Given the description of an element on the screen output the (x, y) to click on. 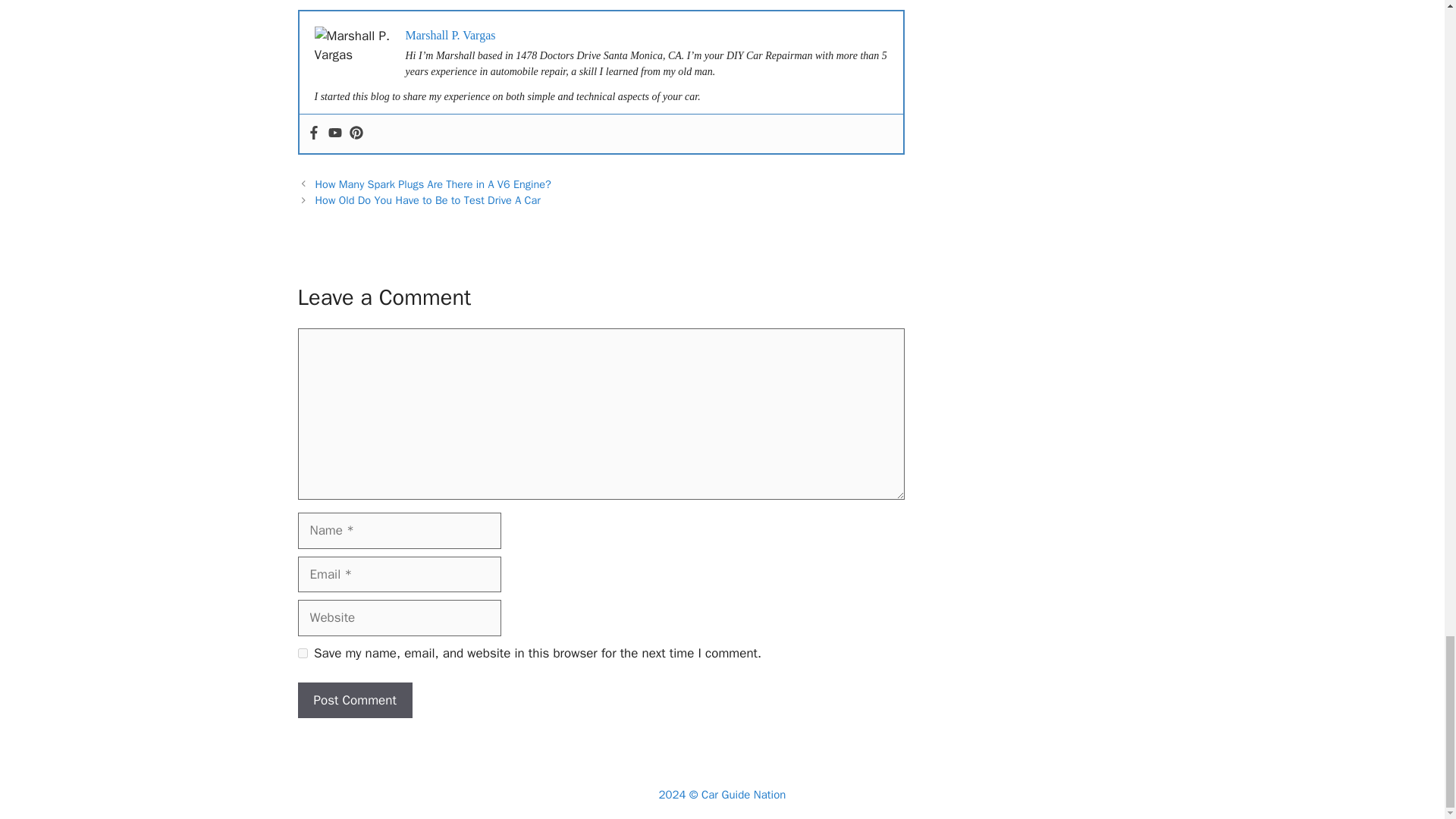
Post Comment (354, 700)
Post Comment (354, 700)
yes (302, 653)
How Many Spark Plugs Are There in A V6 Engine? (433, 183)
How Old Do You Have to Be to Test Drive A Car (427, 200)
Marshall P. Vargas (449, 34)
